Given the description of an element on the screen output the (x, y) to click on. 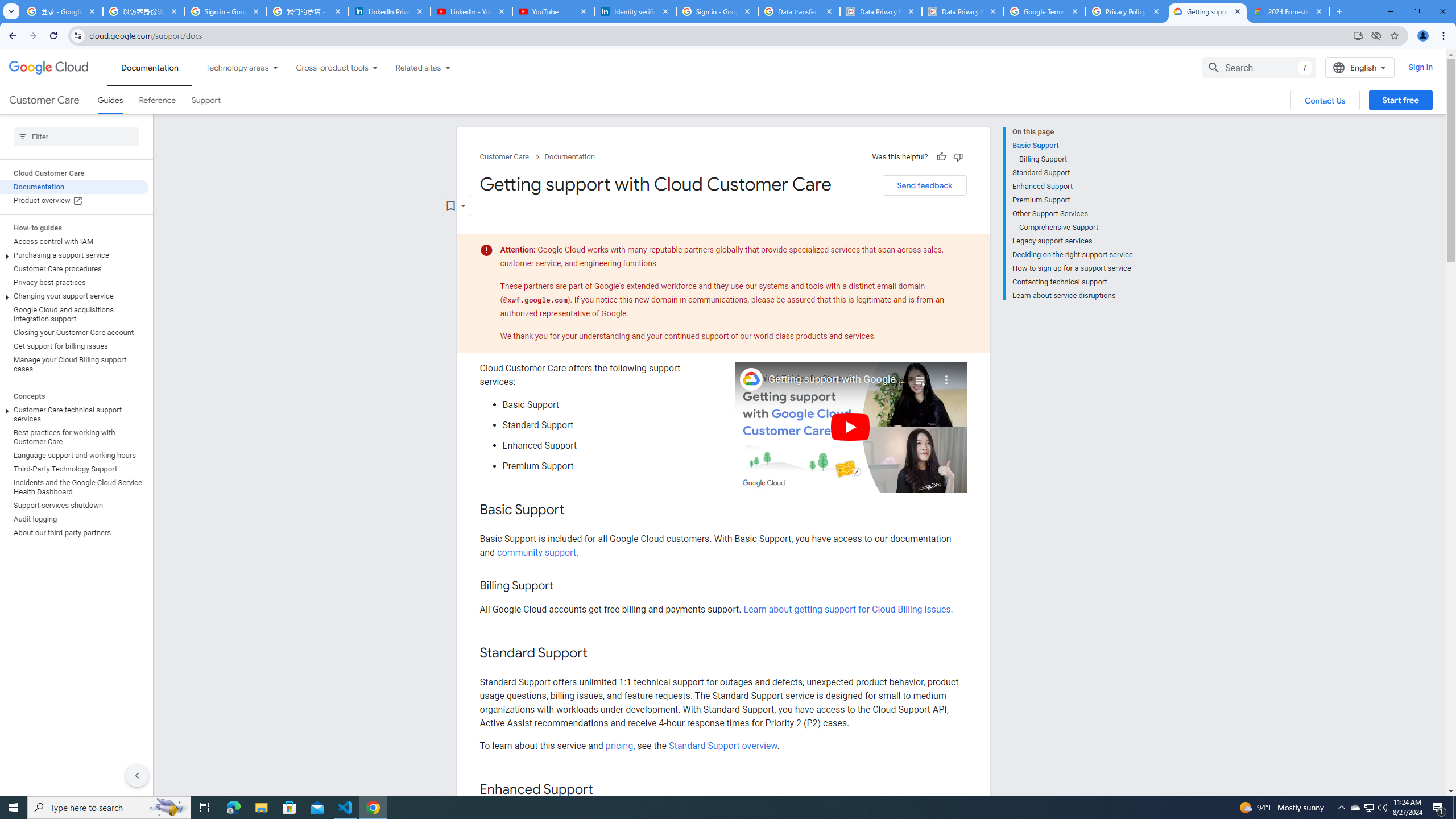
Basic Support (1071, 145)
About our third-party partners (74, 532)
Guides, selected (109, 99)
English (1359, 67)
Learn about getting support for Cloud Billing issues (847, 609)
Google Cloud (48, 67)
Customer Care technical support services (74, 413)
View site information (77, 35)
More (946, 375)
Documentation (569, 156)
